Given the description of an element on the screen output the (x, y) to click on. 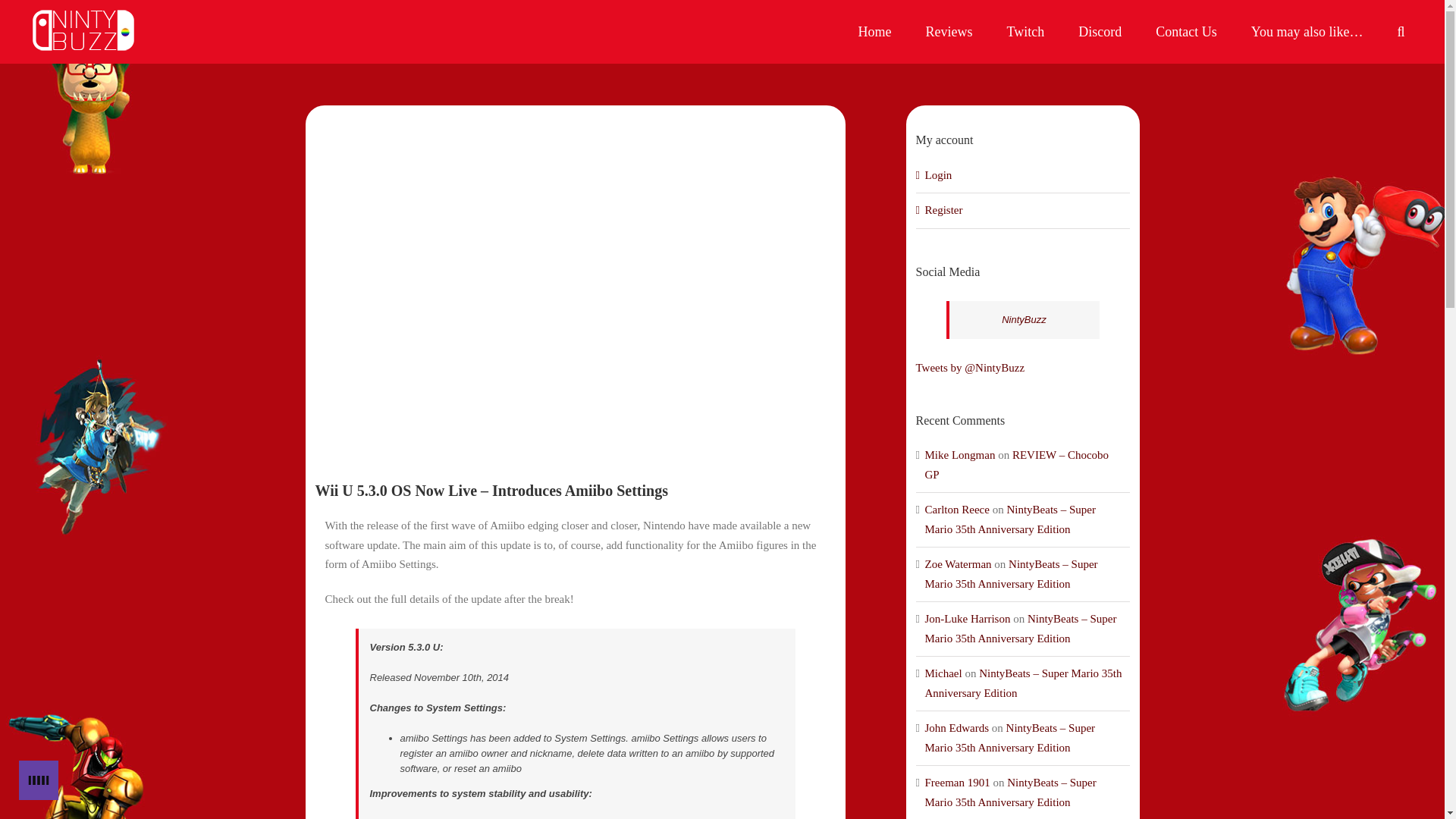
Twitch (1025, 31)
Contact Us (1186, 31)
Reviews (949, 31)
Home (874, 31)
Discord (1099, 31)
